Given the description of an element on the screen output the (x, y) to click on. 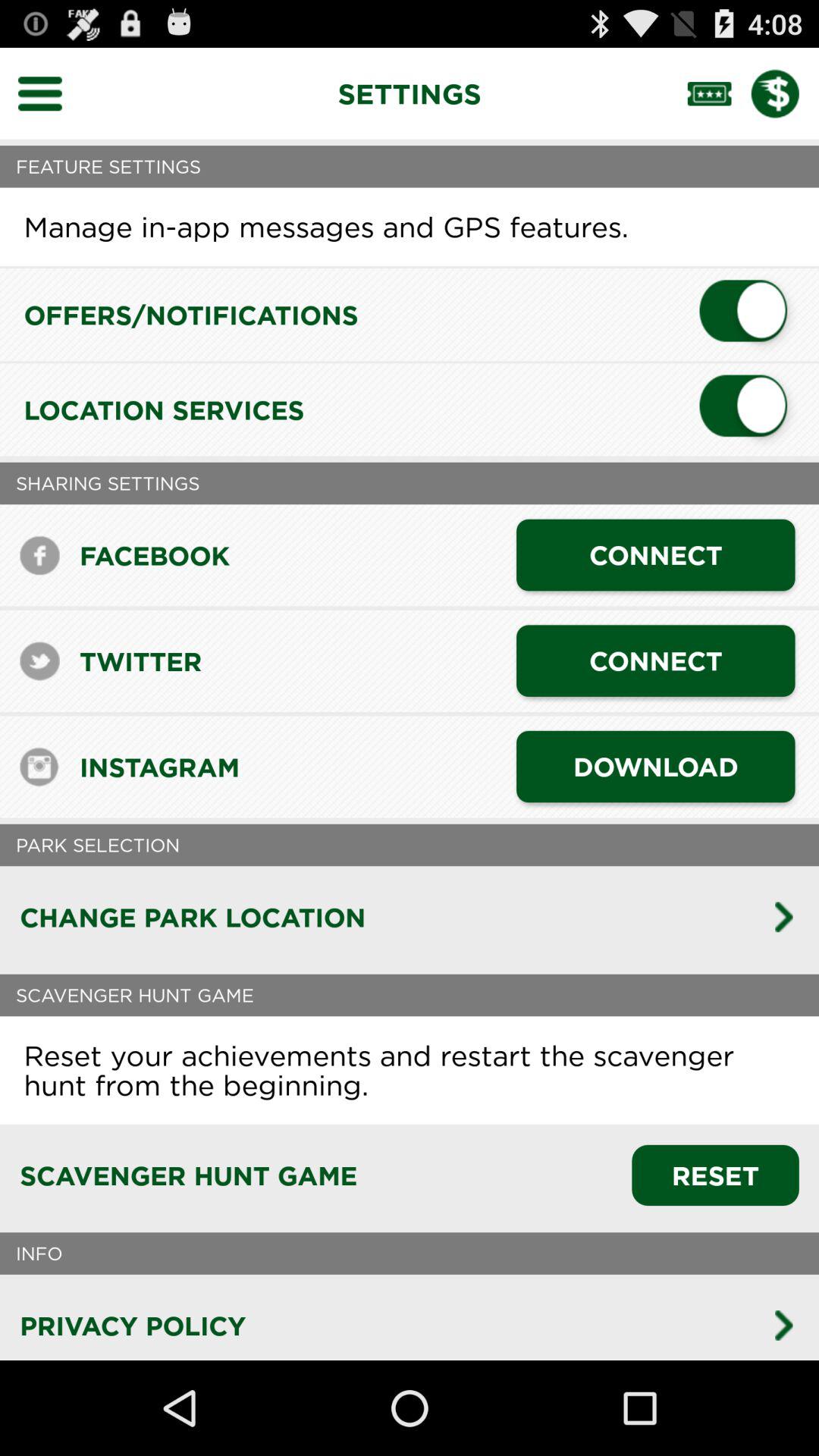
toggle offers/notifications (749, 314)
